Given the description of an element on the screen output the (x, y) to click on. 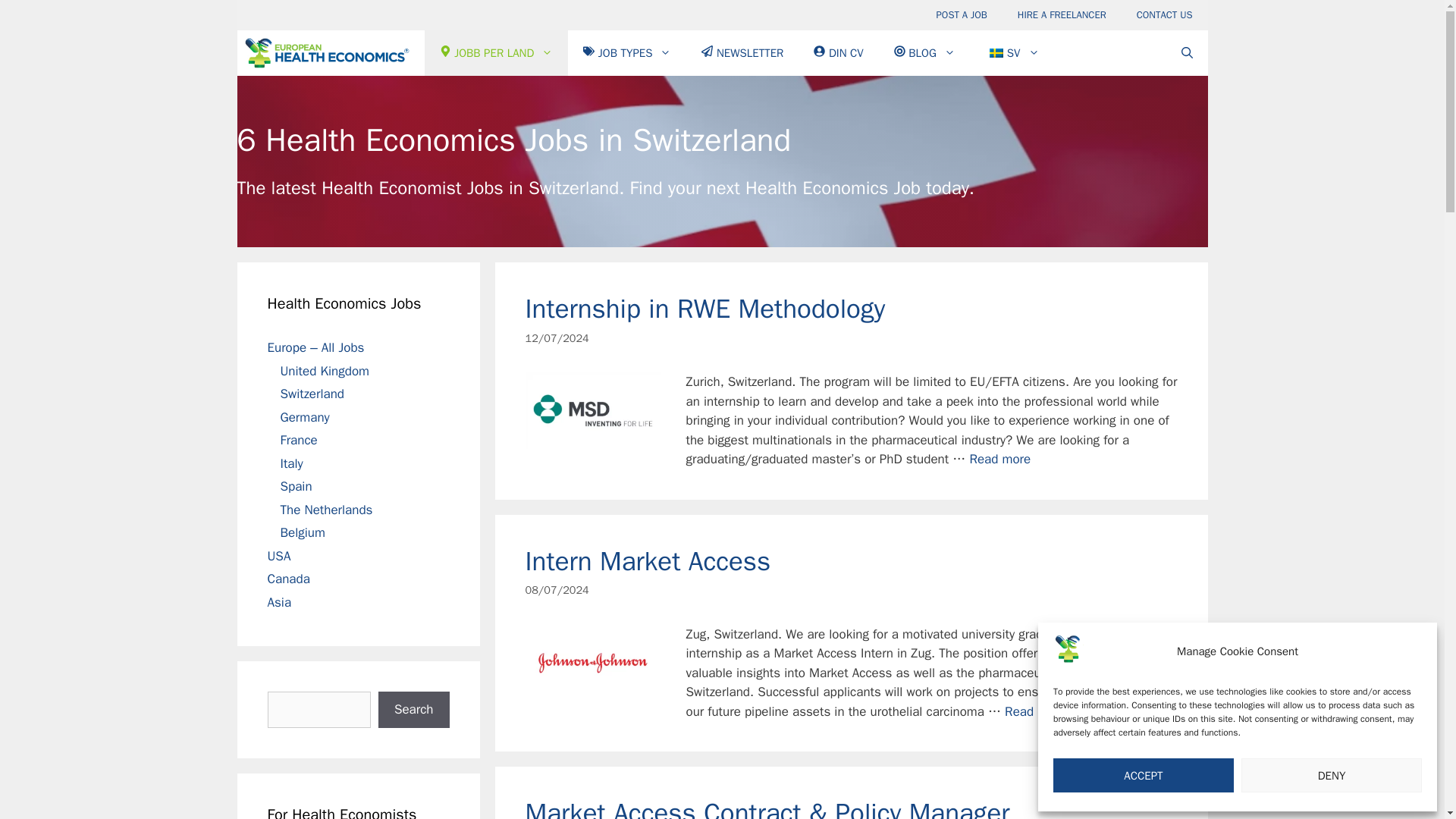
JOBB PER LAND (497, 53)
Hire a Freelance Health Economist (1062, 15)
POST A JOB (962, 15)
CONTACT US (1164, 15)
EuropeanHealthEconomics.com (330, 53)
Post a Health Economics Job Advertisement (962, 15)
Contact EuropeanHealthEconomics.com (1164, 15)
DENY (1331, 775)
EuropeanHealthEconomics.com (326, 53)
HIRE A FREELANCER (1062, 15)
ACCEPT (1142, 775)
